Given the description of an element on the screen output the (x, y) to click on. 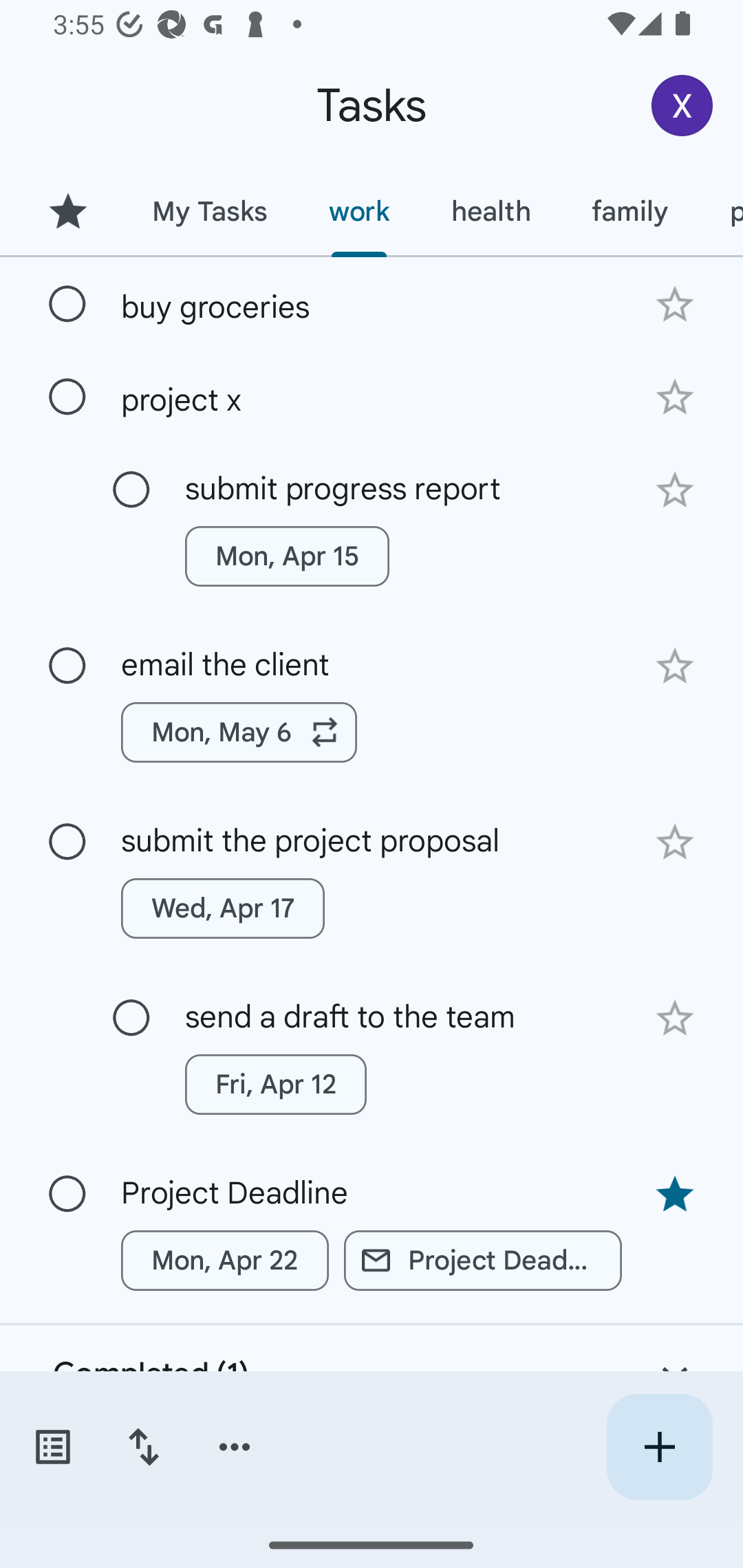
Starred (67, 211)
My Tasks (209, 211)
health (490, 211)
family (629, 211)
Add star (674, 303)
Mark as complete (67, 304)
Add star (674, 397)
Mark as complete (67, 397)
Add star (674, 490)
Mark as complete (131, 489)
Mon, Apr 15 (287, 556)
Add star (674, 665)
Mark as complete (67, 666)
Mon, May 6 (239, 731)
Add star (674, 841)
Mark as complete (67, 842)
Wed, Apr 17 (222, 907)
Add star (674, 1018)
Mark as complete (131, 1018)
Fri, Apr 12 (276, 1084)
Remove star (674, 1194)
Mark as complete (67, 1193)
Mon, Apr 22 (225, 1260)
Project Deadline Related link (482, 1260)
Switch task lists (52, 1447)
Create new task (659, 1446)
Change sort order (143, 1446)
More options (234, 1446)
